Given the description of an element on the screen output the (x, y) to click on. 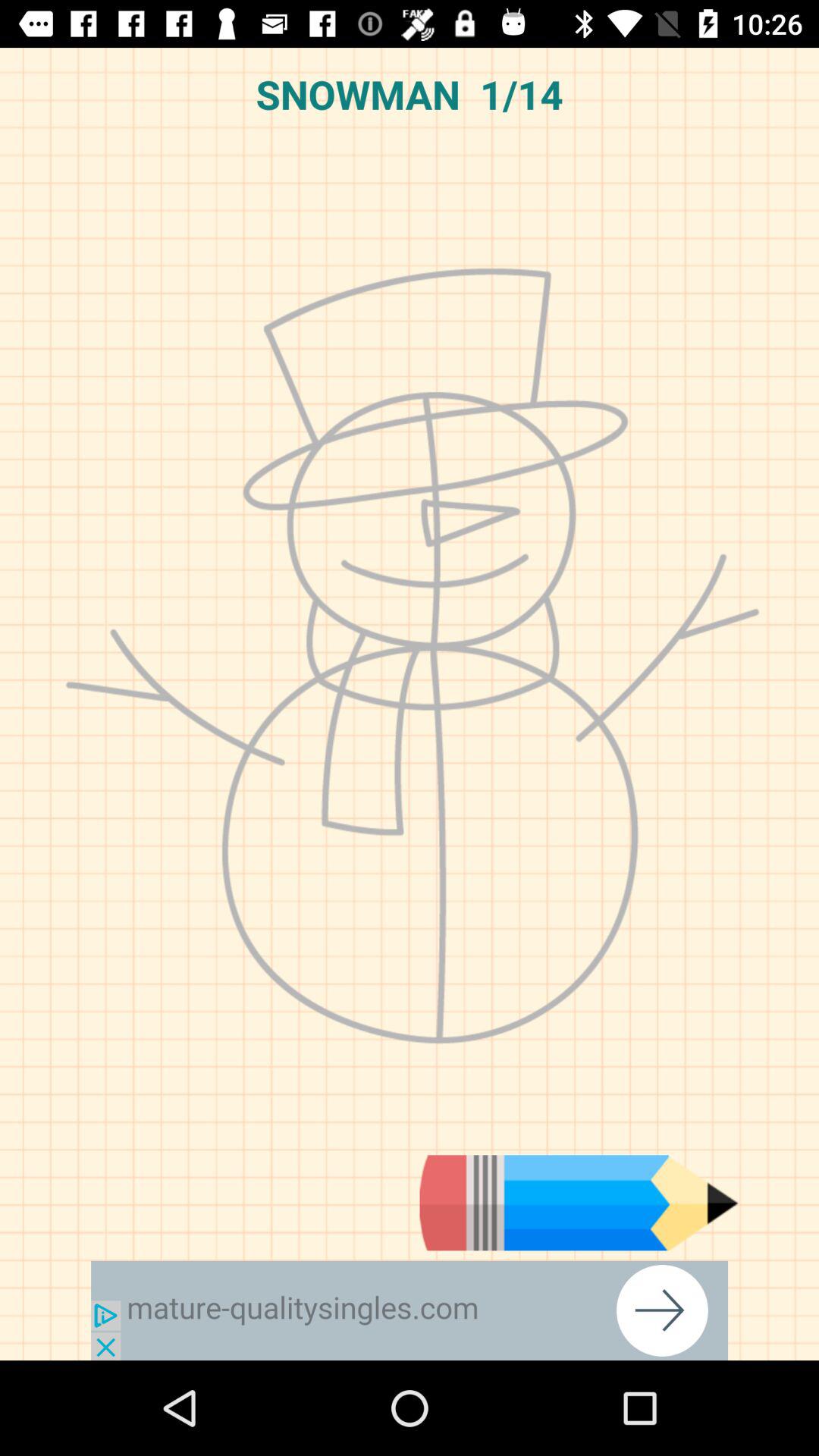
use pencil to draw (578, 1202)
